Given the description of an element on the screen output the (x, y) to click on. 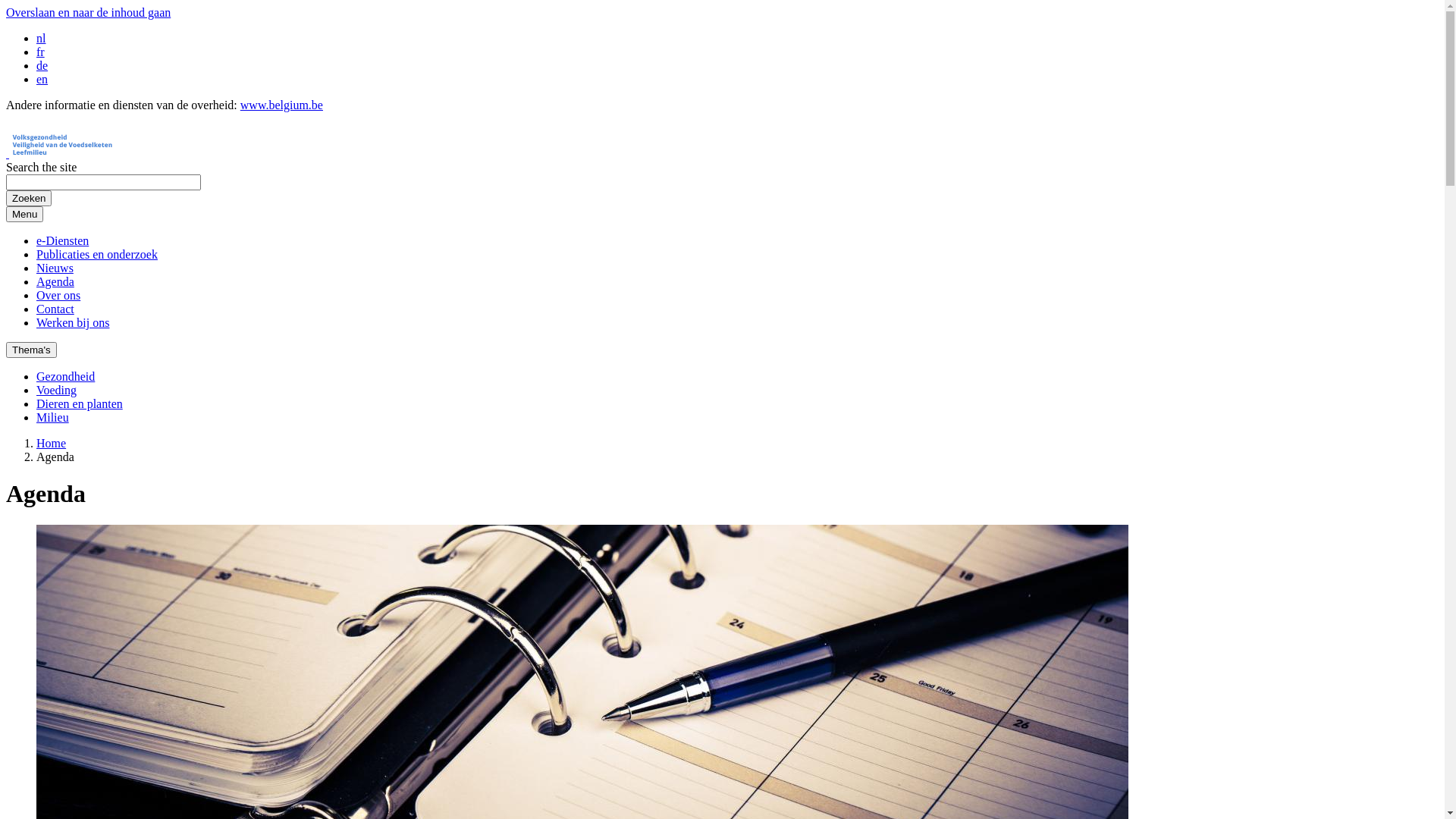
Nieuws Element type: text (54, 267)
Contact Element type: text (55, 308)
Milieu Element type: text (52, 417)
Terug naar de FOD Volksgezondheid homepage Element type: hover (140, 153)
nl Element type: text (40, 37)
Thema's Element type: text (31, 349)
Overslaan en naar de inhoud gaan Element type: text (88, 12)
fr Element type: text (40, 51)
Zoeken Element type: text (28, 198)
Dieren en planten Element type: text (79, 403)
www.belgium.be Element type: text (281, 104)
e-Diensten Element type: text (62, 240)
Werken bij ons Element type: text (72, 322)
Agenda Element type: text (55, 281)
Menu Element type: text (24, 214)
Voeding Element type: text (56, 389)
en Element type: text (41, 78)
de Element type: text (41, 65)
Publicaties en onderzoek Element type: text (96, 253)
Home Element type: text (50, 442)
Gezondheid Element type: text (65, 376)
Over ons Element type: text (58, 294)
